Given the description of an element on the screen output the (x, y) to click on. 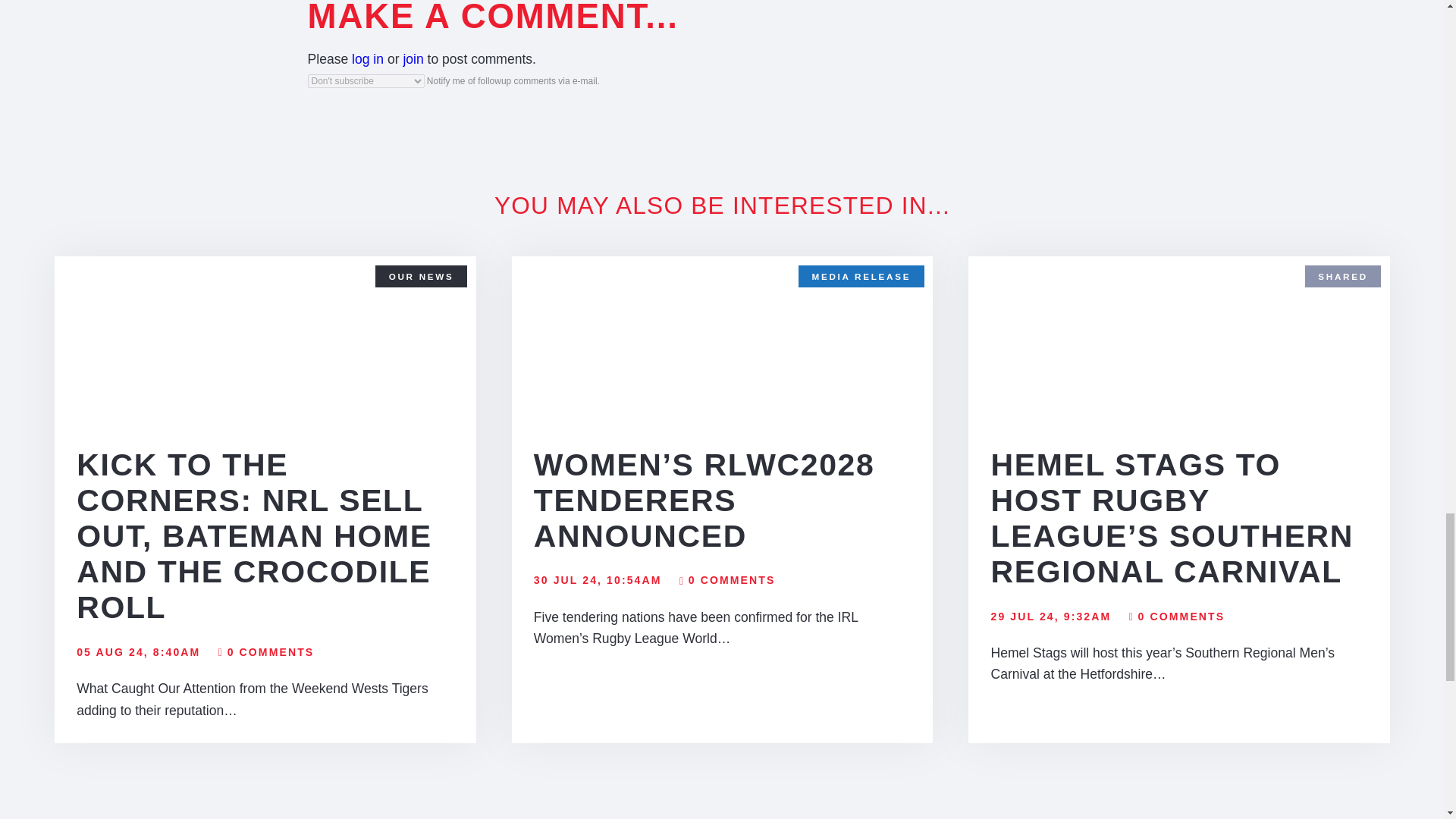
OUR NEWS (421, 276)
log in (368, 58)
join (413, 58)
